Given the description of an element on the screen output the (x, y) to click on. 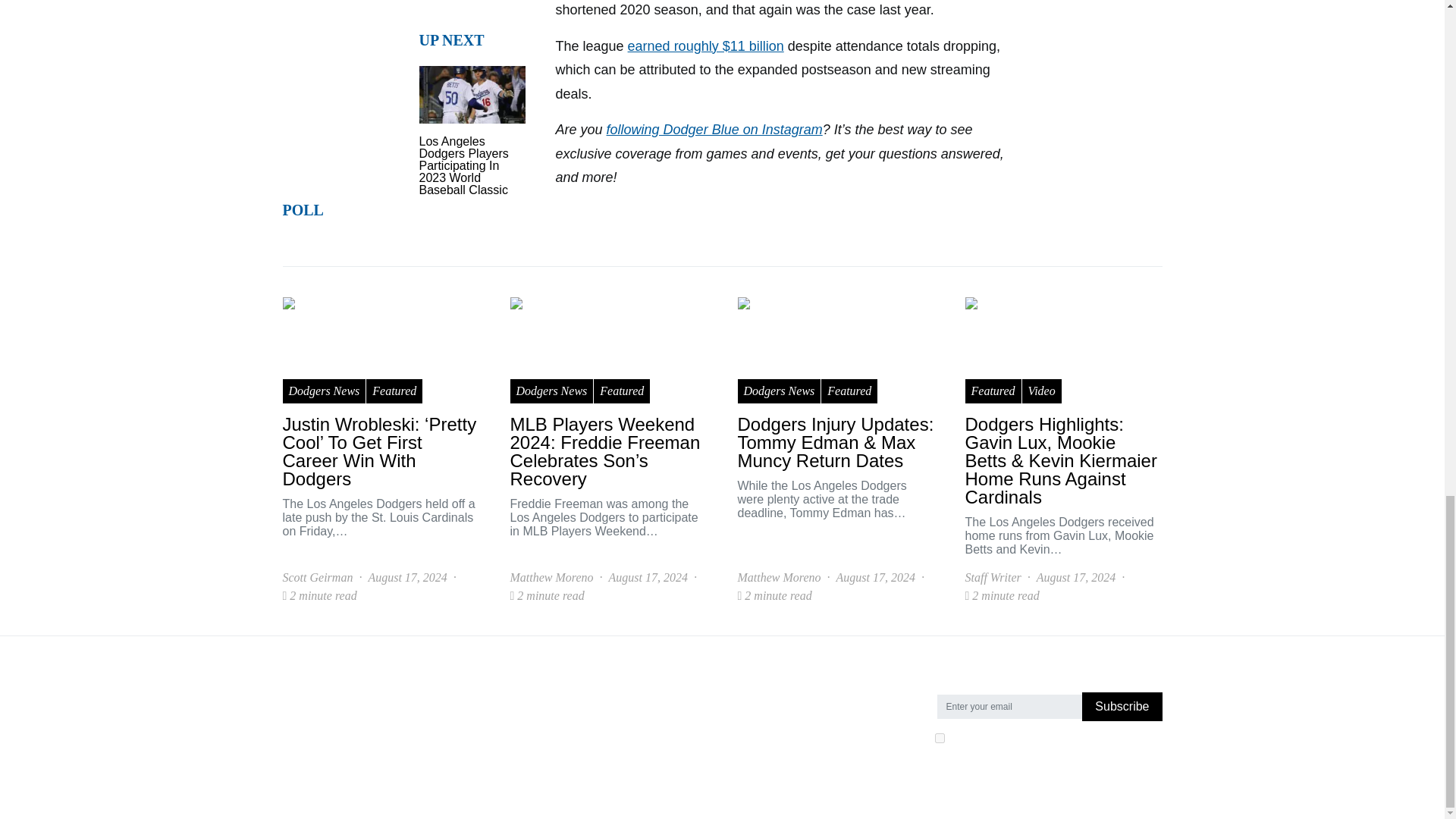
View all posts by Staff Writer (991, 577)
View all posts by Matthew Moreno (550, 577)
View all posts by Scott Geirman (317, 577)
View all posts by Matthew Moreno (778, 577)
on (938, 737)
